Given the description of an element on the screen output the (x, y) to click on. 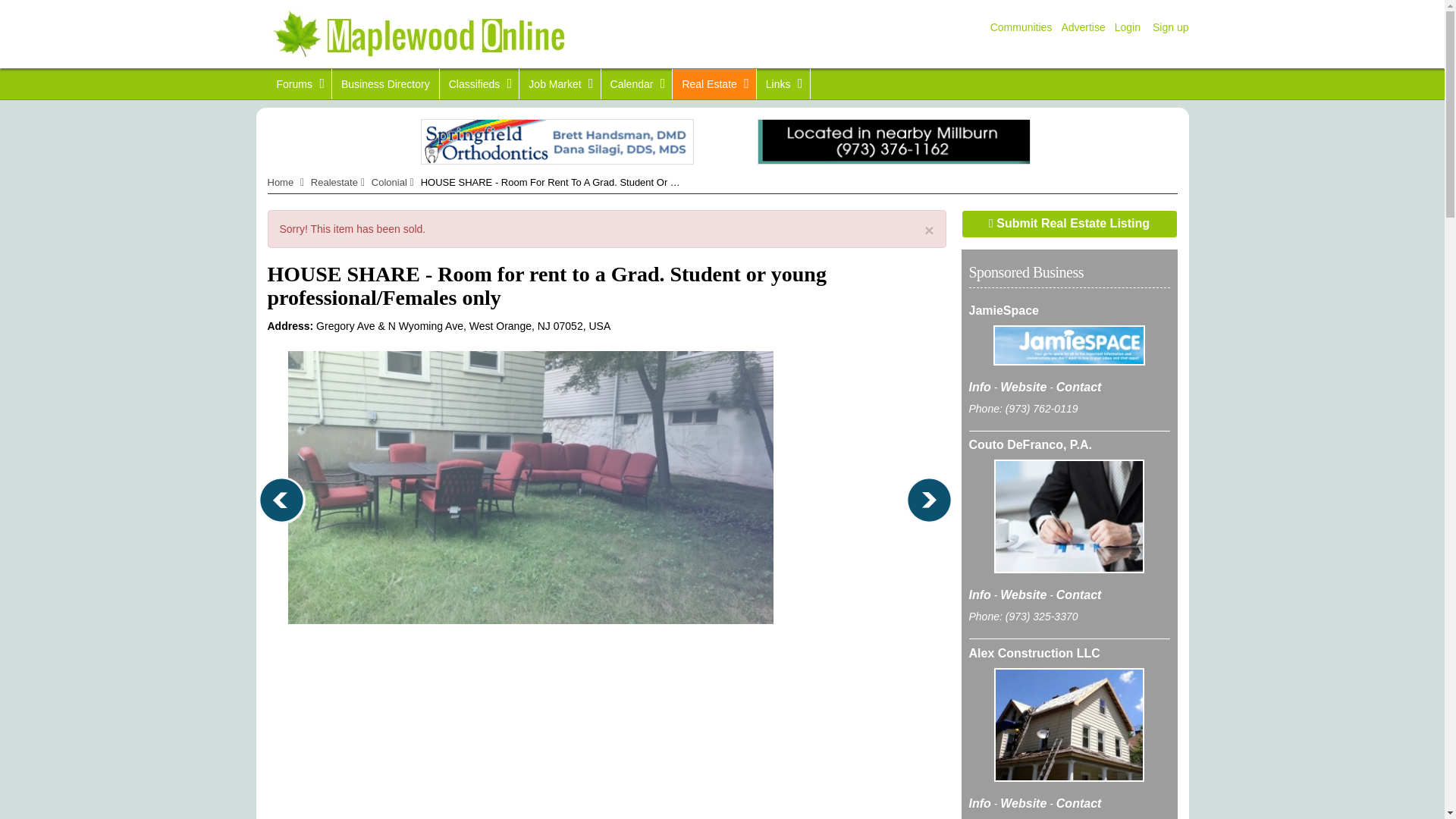
Forums (298, 83)
Home (280, 182)
Sign up (1166, 27)
Advertise (1083, 27)
Real Estate (713, 83)
Classifieds (479, 83)
Business Directory (385, 83)
Realestate (334, 182)
Job Market (559, 83)
Add Real Estate (1068, 223)
Login (1126, 27)
Links (783, 83)
Communities (1021, 27)
Colonial (389, 182)
Calendar (636, 83)
